Given the description of an element on the screen output the (x, y) to click on. 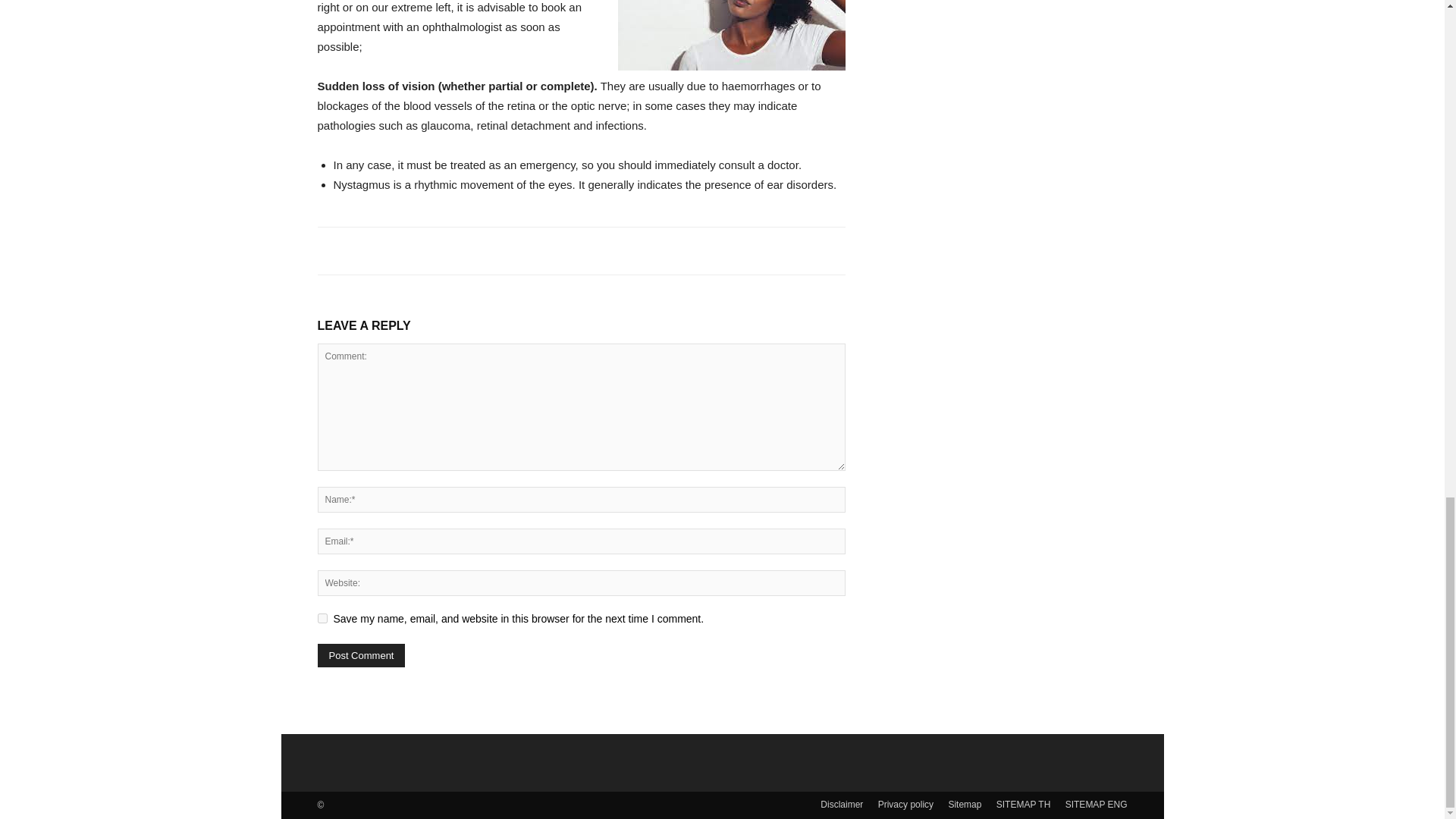
Privacy policy (905, 804)
Post Comment (360, 655)
Sitemap (964, 804)
yes (321, 618)
Post Comment (360, 655)
Disclaimer (842, 804)
SITEMAP TH (1023, 804)
SITEMAP ENG (1095, 804)
